Given the description of an element on the screen output the (x, y) to click on. 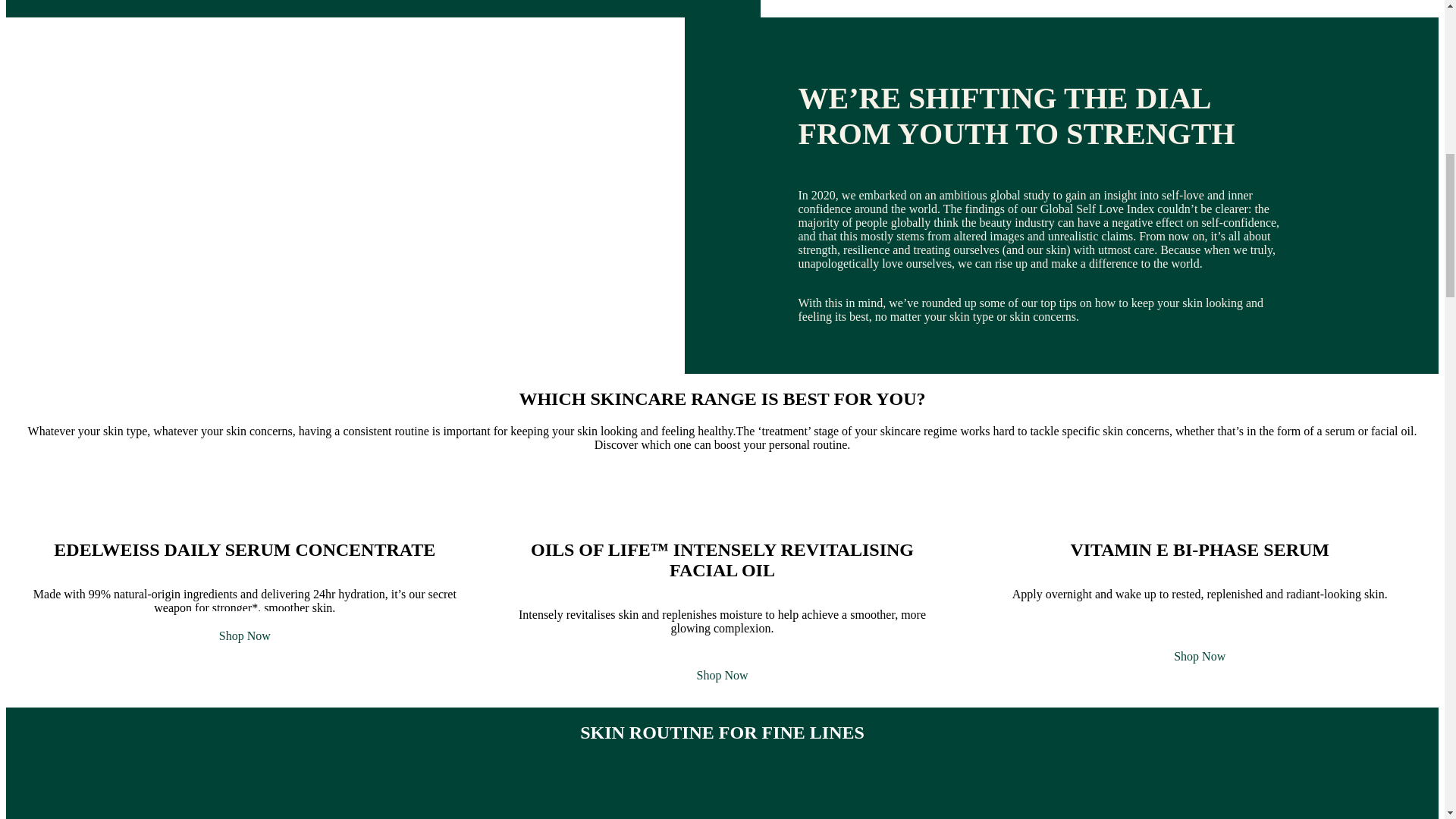
Shop Now (245, 635)
Shop Now (1199, 655)
Shop Now (721, 675)
